Given the description of an element on the screen output the (x, y) to click on. 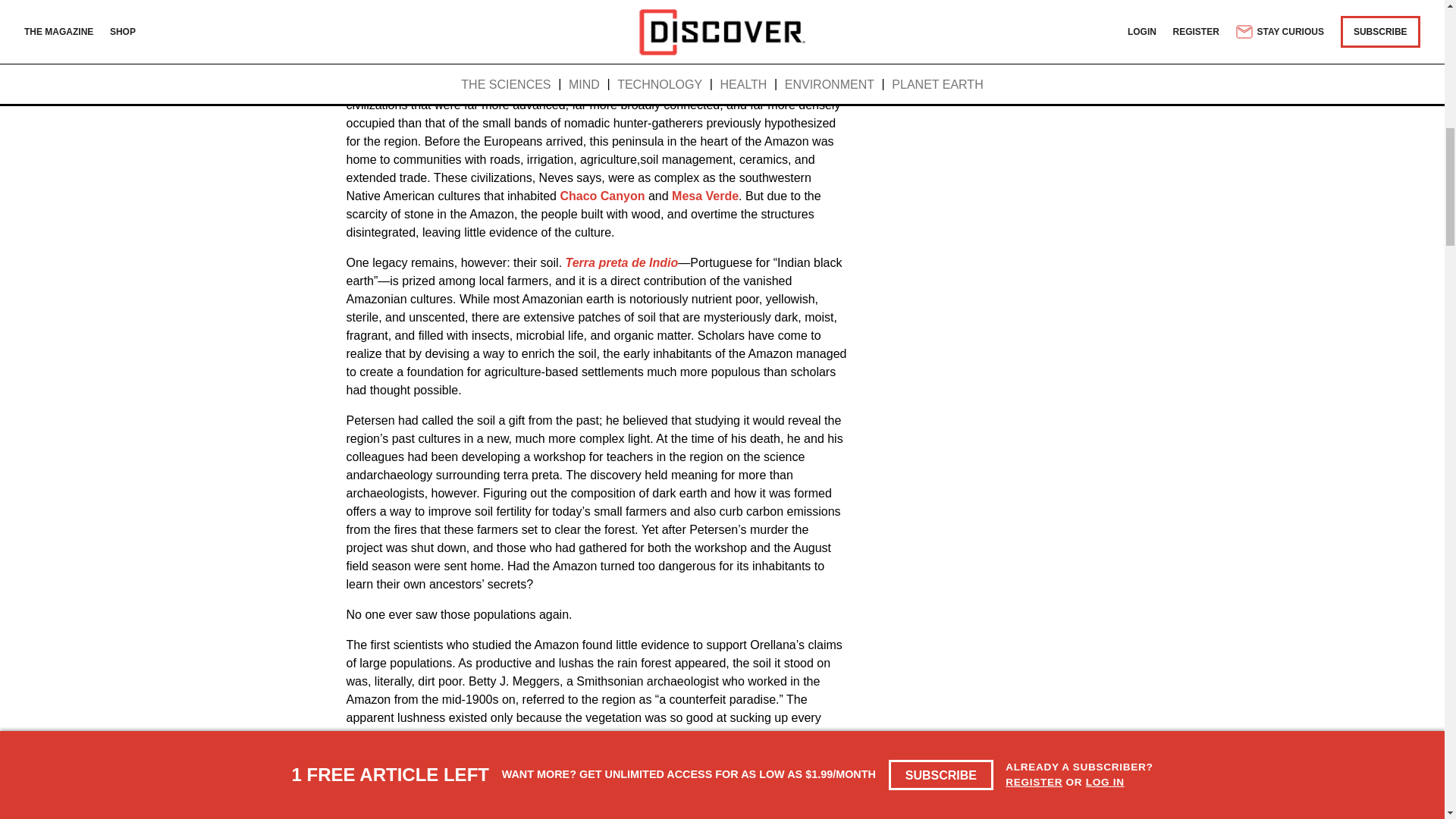
Chaco Canyon (602, 195)
Terra preta de Indio (622, 262)
Mesa Verde (704, 195)
